Given the description of an element on the screen output the (x, y) to click on. 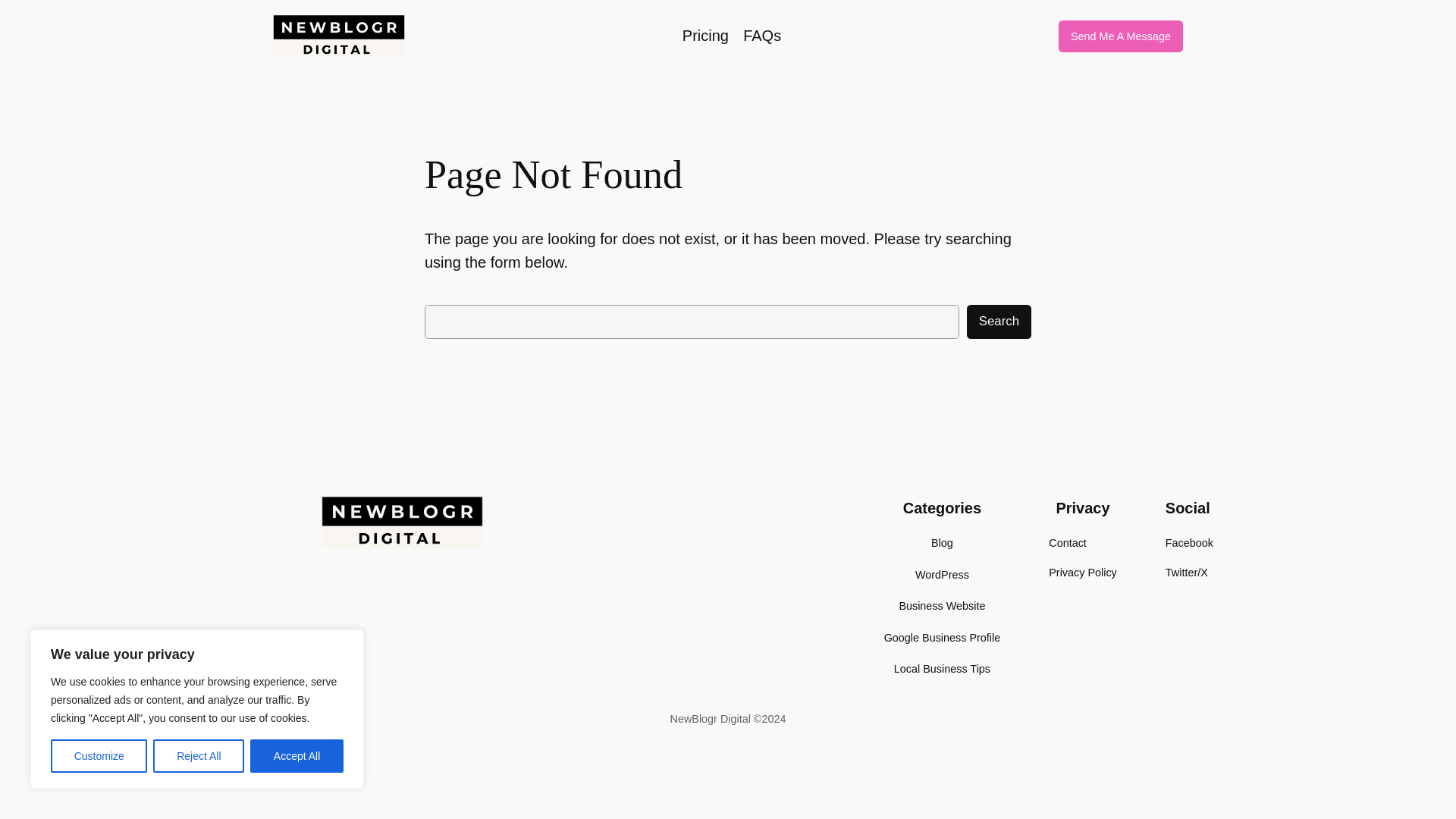
FAQs (761, 35)
Local Business Tips (941, 668)
Reject All (198, 756)
Accept All (296, 756)
Facebook (1189, 542)
Send Me A Message (1120, 36)
Privacy Policy (1082, 572)
Search (998, 321)
Customize (98, 756)
WordPress (942, 574)
